Given the description of an element on the screen output the (x, y) to click on. 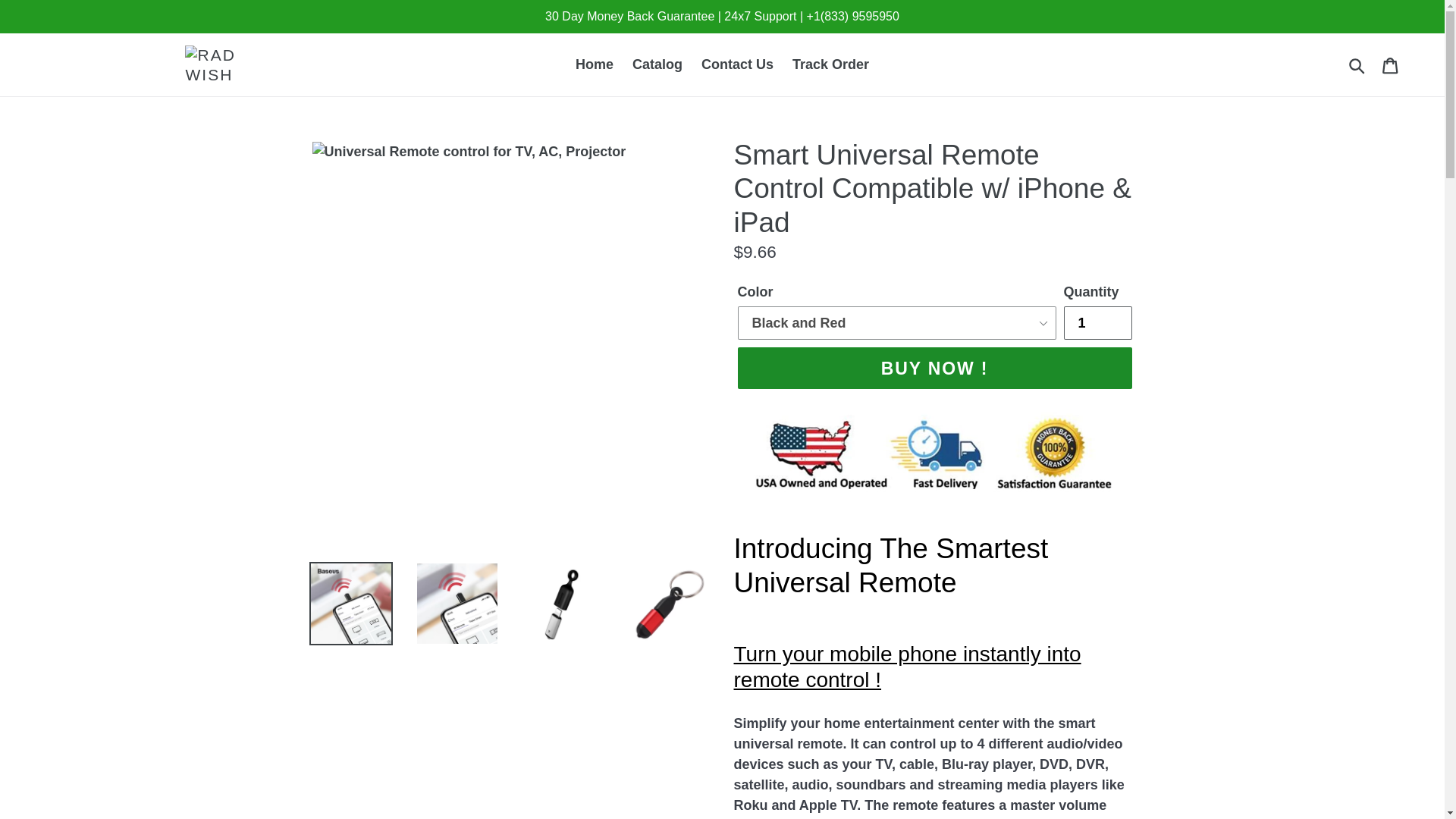
BUY NOW ! (933, 368)
Catalog (657, 64)
1 (1096, 322)
Contact Us (737, 64)
Submit (1358, 64)
Cart (1391, 64)
Home (594, 64)
Track Order (830, 64)
